Given the description of an element on the screen output the (x, y) to click on. 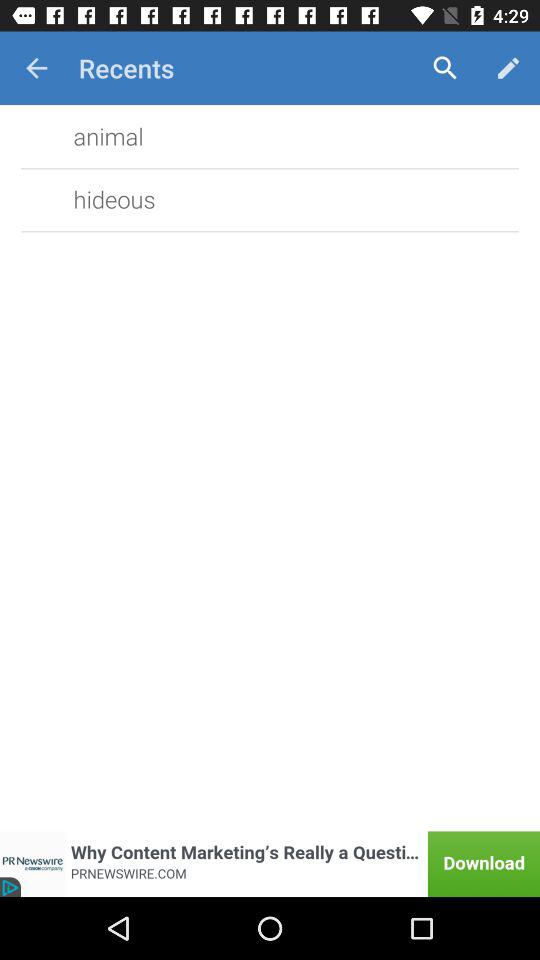
choose app to the left of recents item (36, 68)
